Given the description of an element on the screen output the (x, y) to click on. 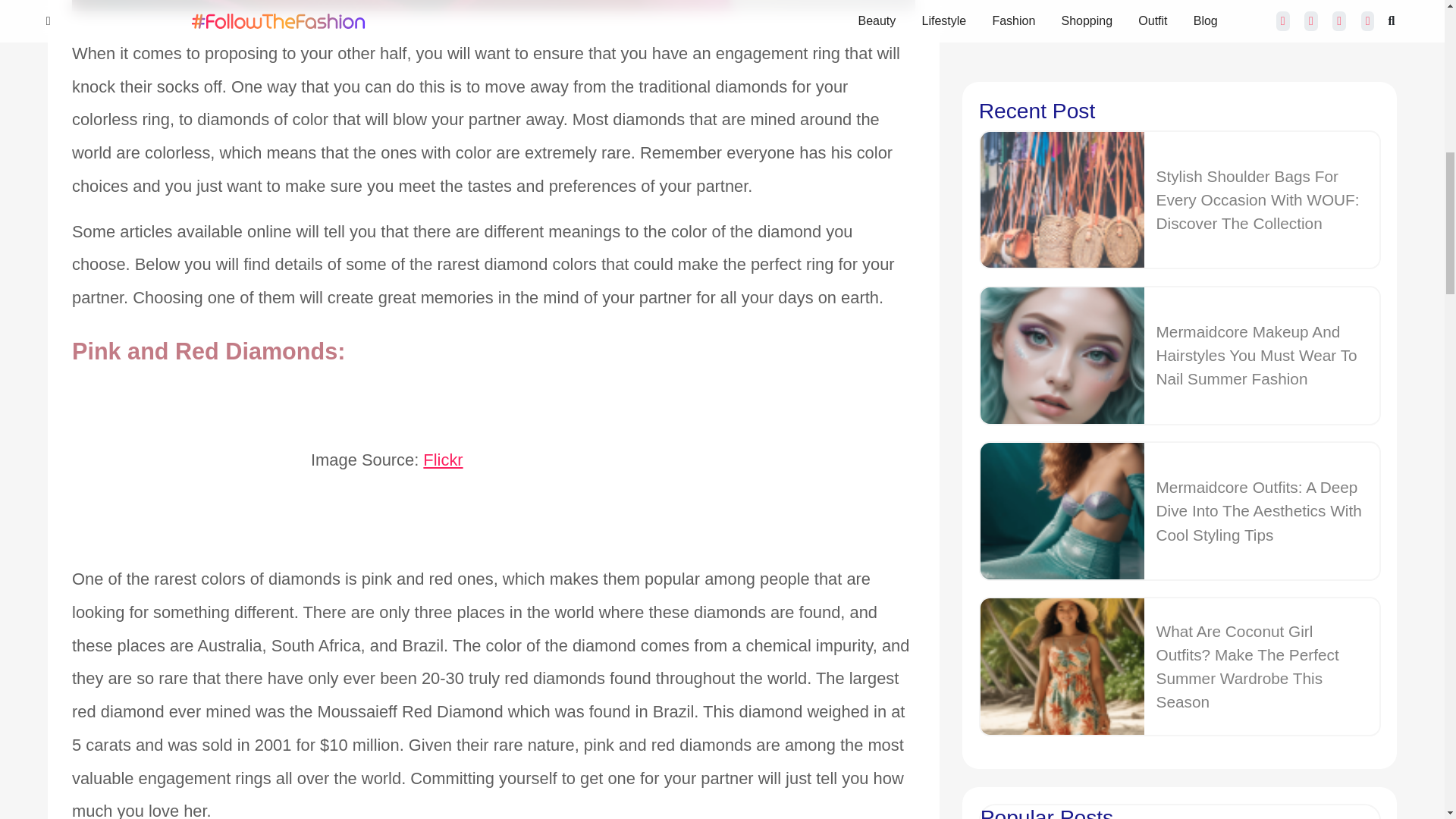
Flickr (443, 459)
